Given the description of an element on the screen output the (x, y) to click on. 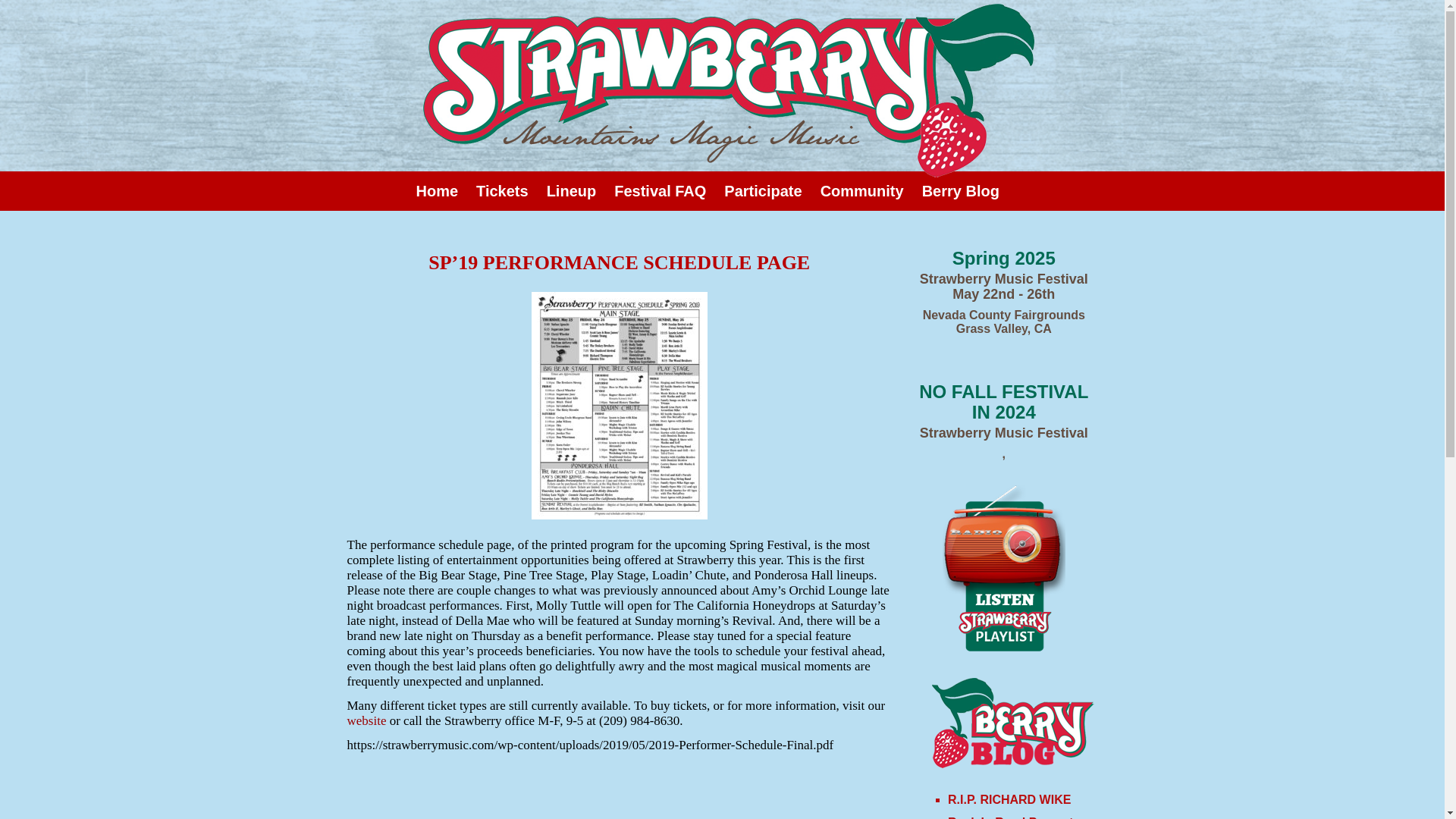
Community (861, 190)
Participate (762, 190)
Lineup (571, 190)
R.I.P. RICHARD WIKE (1008, 799)
Berry Blog (960, 190)
website (367, 720)
Tickets (502, 190)
Home (437, 190)
Festival FAQ (659, 190)
